Given the description of an element on the screen output the (x, y) to click on. 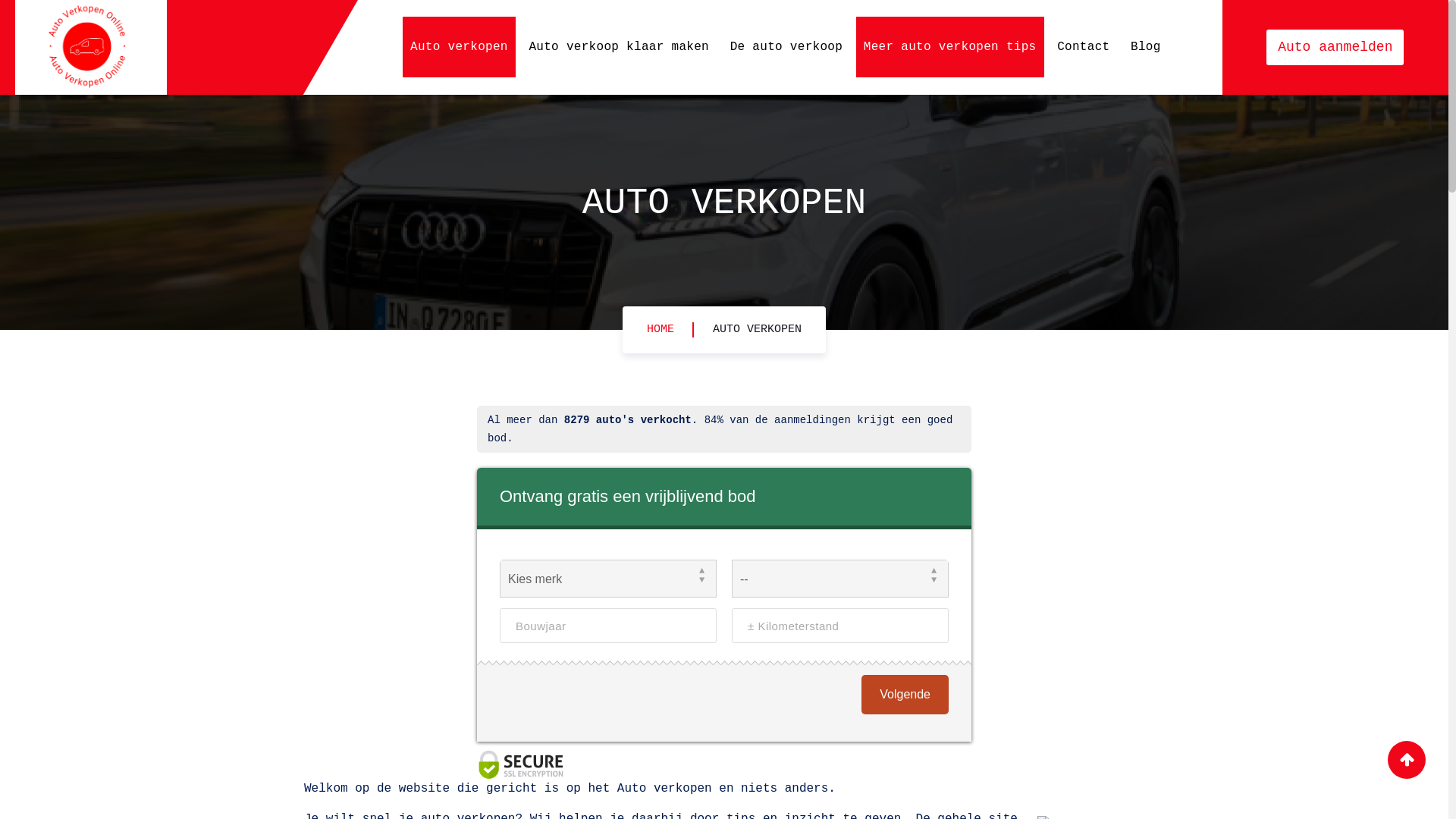
Contact Element type: text (1083, 47)
Meer auto verkopen tips Element type: text (950, 46)
Auto aanmelden Element type: text (1334, 47)
De auto verkoop Element type: text (786, 47)
Auto verkoop klaar maken Element type: text (618, 47)
HOME Element type: text (660, 329)
Volgende Element type: text (904, 694)
Blog Element type: text (1145, 47)
Auto verkopen Element type: text (458, 46)
